Given the description of an element on the screen output the (x, y) to click on. 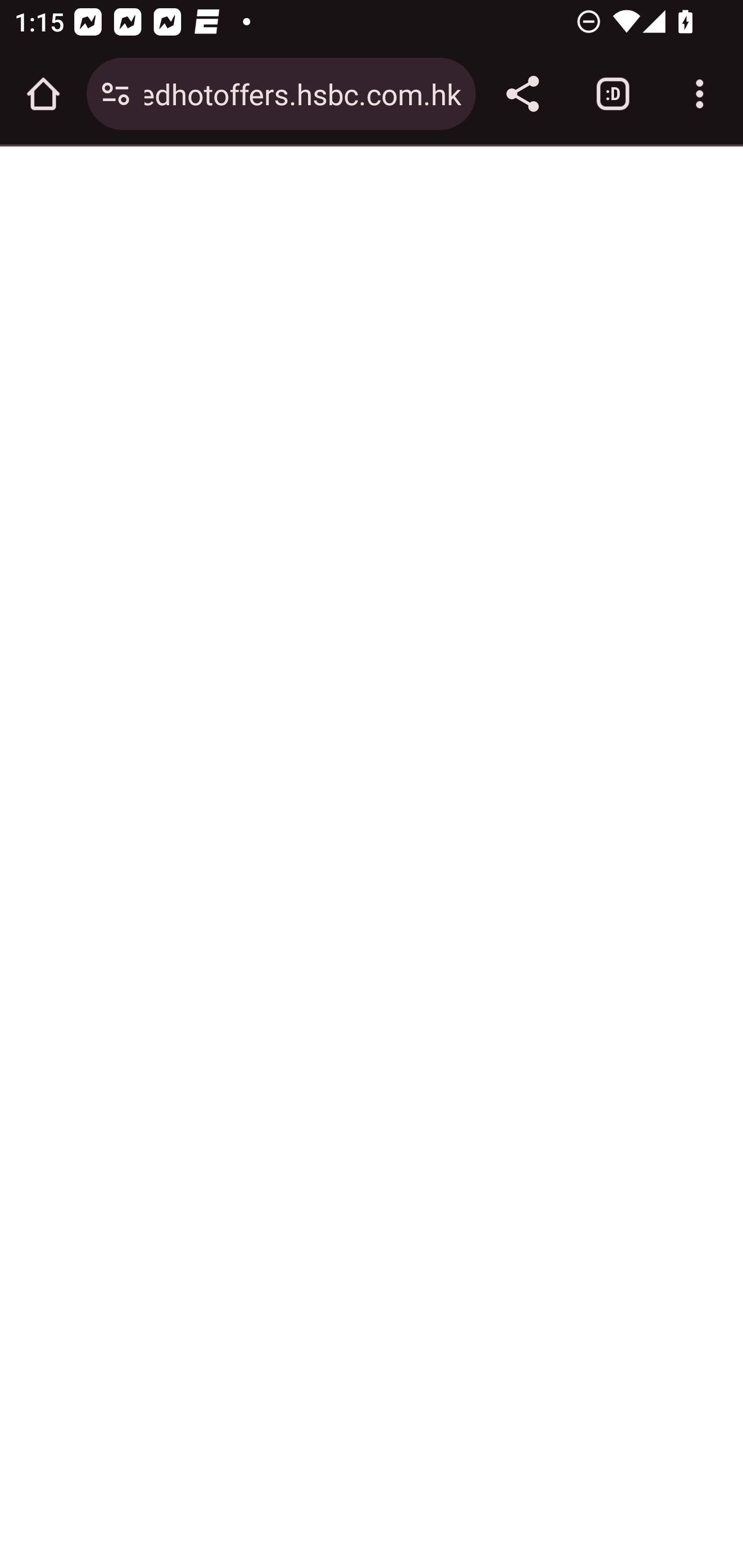
Open the home page (43, 93)
Connection is secure (115, 93)
Share (522, 93)
Switch or close tabs (612, 93)
Customize and control Google Chrome (699, 93)
